Given the description of an element on the screen output the (x, y) to click on. 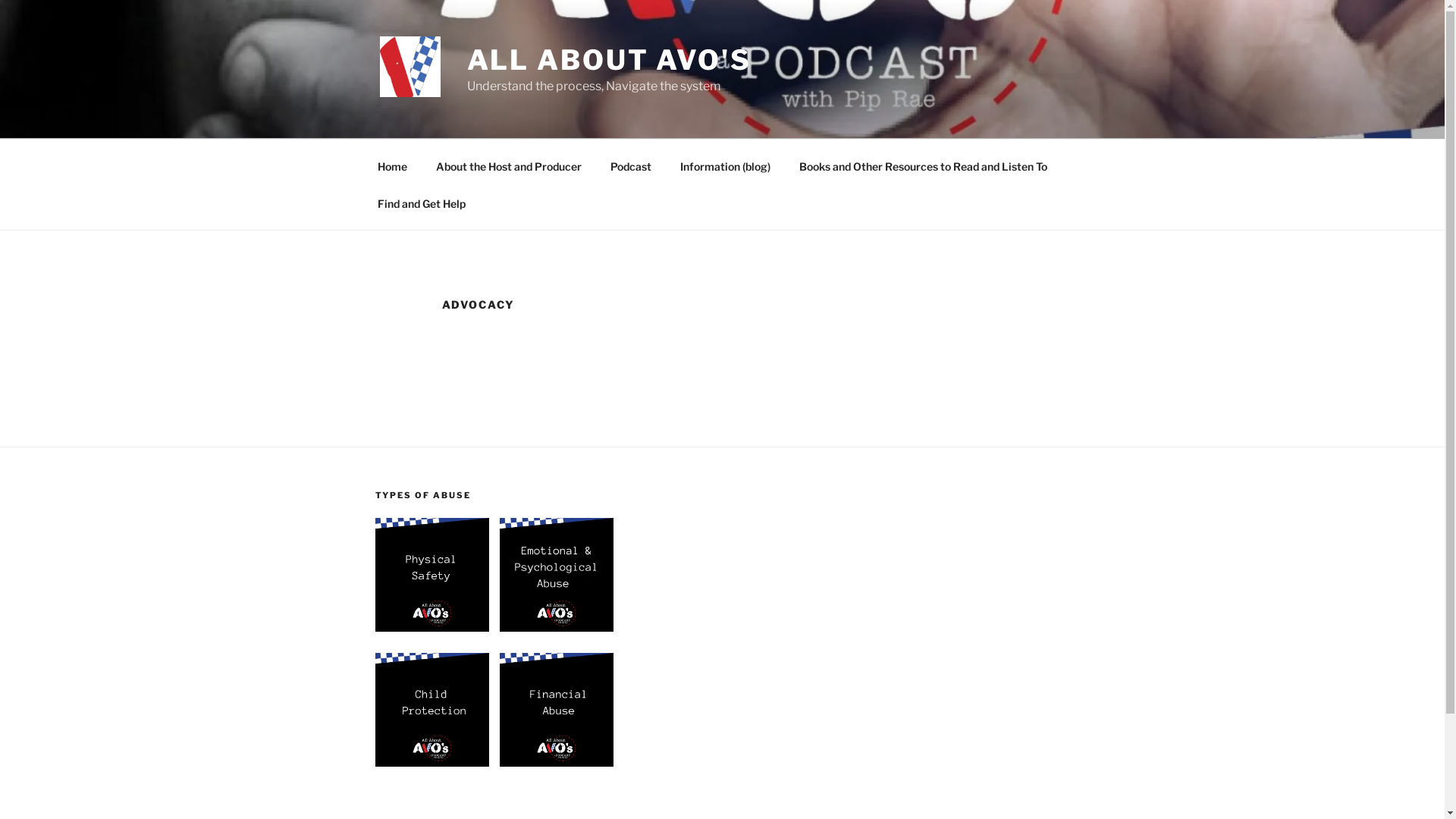
ALL ABOUT AVO'S Element type: text (609, 59)
Information (blog) Element type: text (725, 165)
Home Element type: text (392, 165)
Podcast Element type: text (631, 165)
Find and Get Help Element type: text (421, 203)
Books and Other Resources to Read and Listen To Element type: text (922, 165)
About the Host and Producer Element type: text (509, 165)
